Given the description of an element on the screen output the (x, y) to click on. 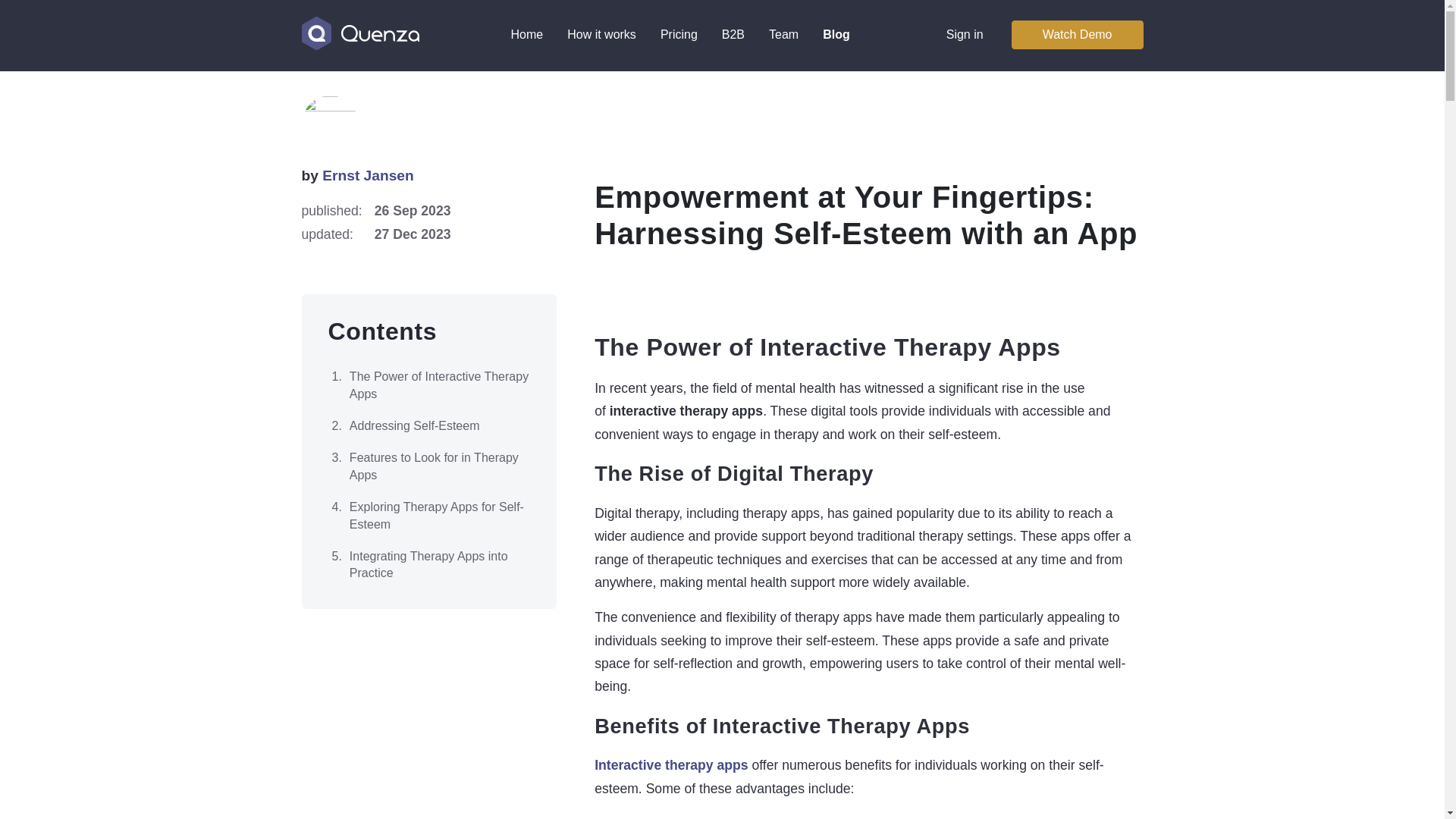
Home (527, 34)
The Power of Interactive Therapy Apps (428, 385)
B2B (733, 34)
Features to Look for in Therapy Apps (428, 466)
How it works (601, 34)
Sign in (964, 34)
Blog (836, 34)
Ernst Jansen (367, 175)
Integrating Therapy Apps into Practice (428, 564)
Watch Demo (1076, 34)
